Given the description of an element on the screen output the (x, y) to click on. 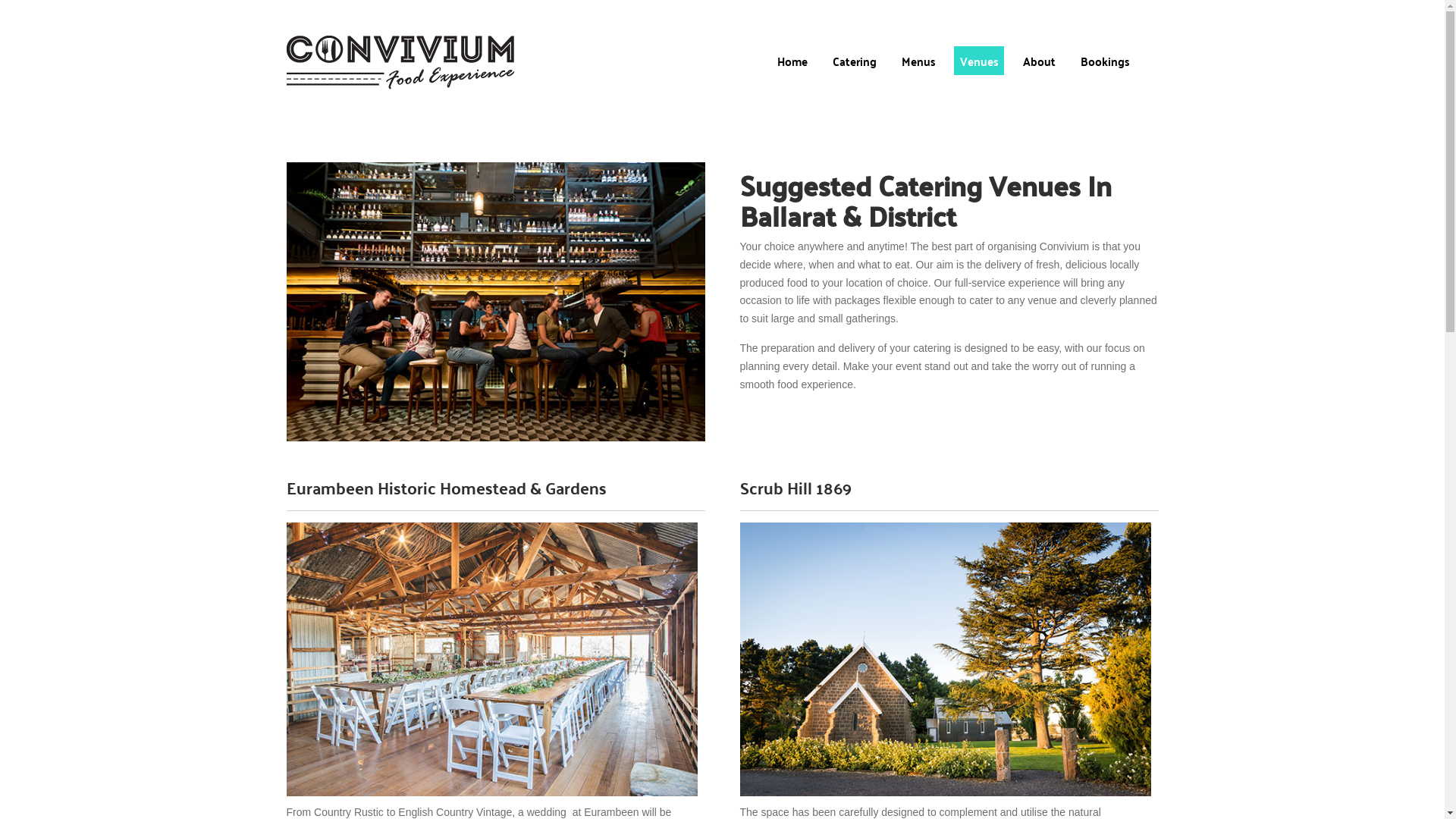
Venues Element type: text (978, 60)
Home Element type: text (791, 60)
About Element type: text (1038, 60)
Catering Element type: text (854, 60)
Menus Element type: text (917, 60)
Bookings Element type: text (1103, 60)
